Given the description of an element on the screen output the (x, y) to click on. 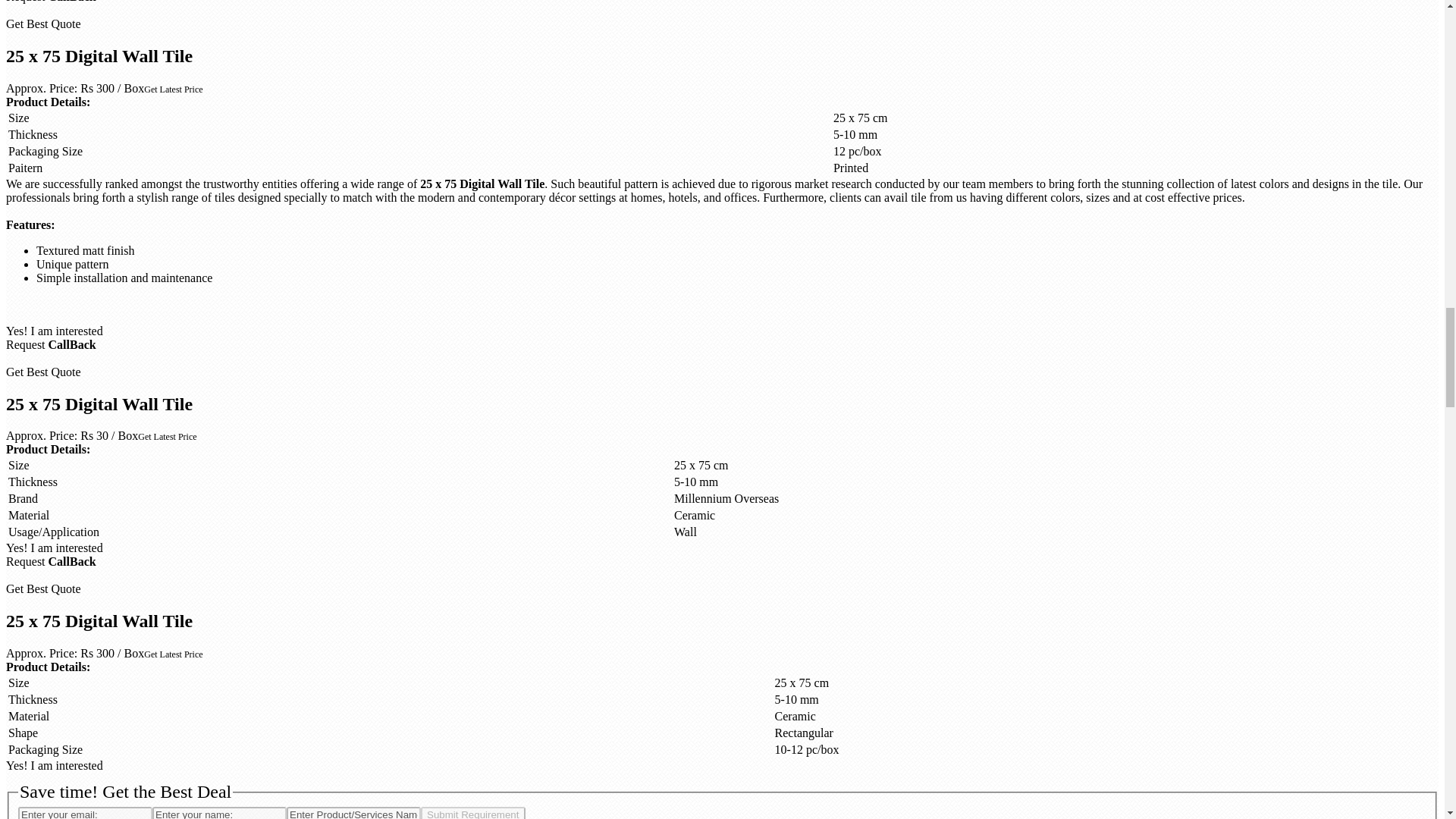
Submit Requirement (472, 812)
Enter your email: (84, 812)
Submit Requirement (472, 812)
Enter your name: (219, 812)
